Given the description of an element on the screen output the (x, y) to click on. 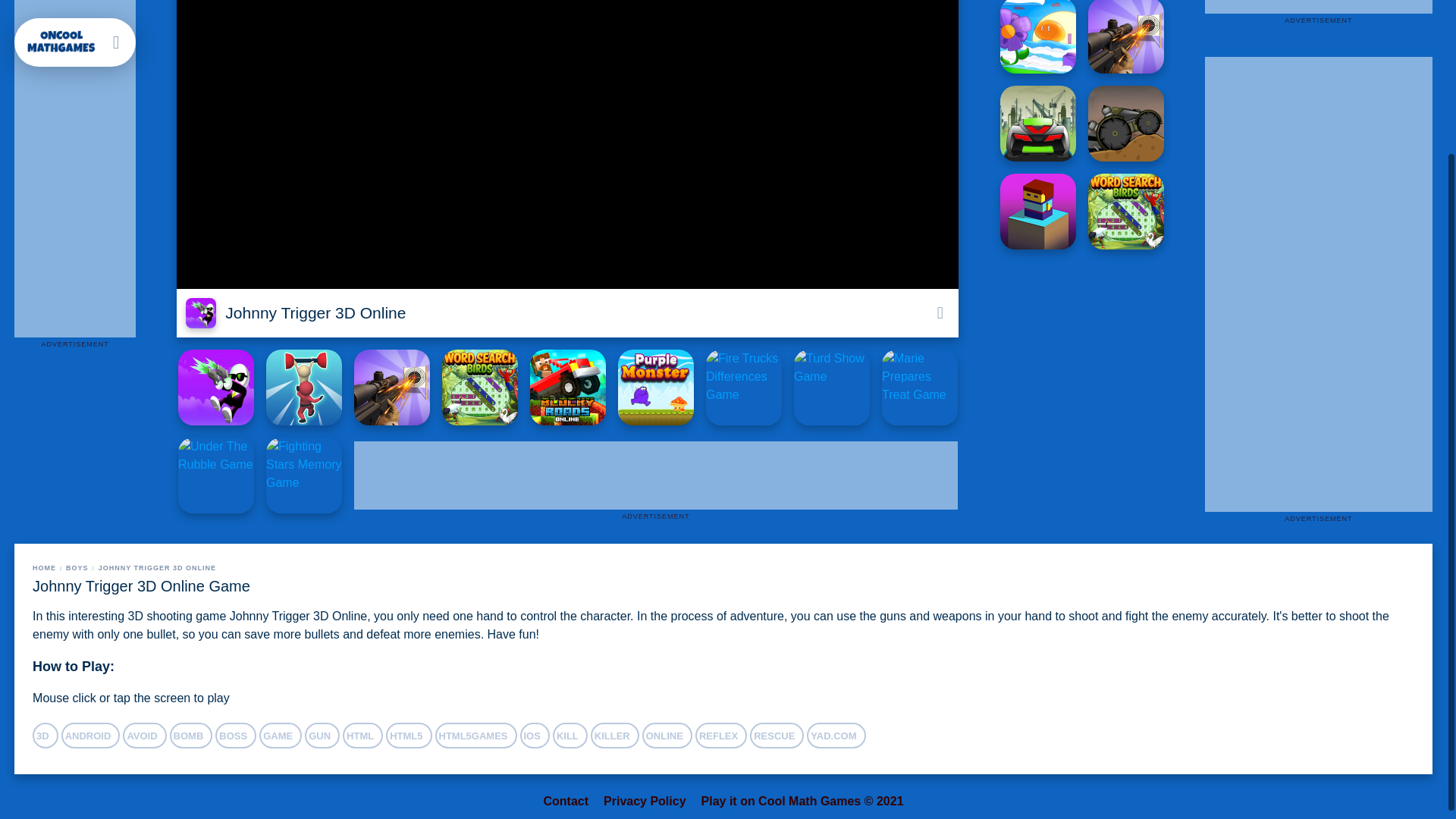
kill (570, 735)
Advertisement (629, 475)
on (939, 312)
boss (235, 735)
killer (615, 735)
html5games (475, 735)
game (280, 735)
html (362, 735)
bomb (191, 735)
3d (45, 735)
android (90, 735)
ios (534, 735)
Advertisement (1318, 6)
html5 (407, 735)
